Given the description of an element on the screen output the (x, y) to click on. 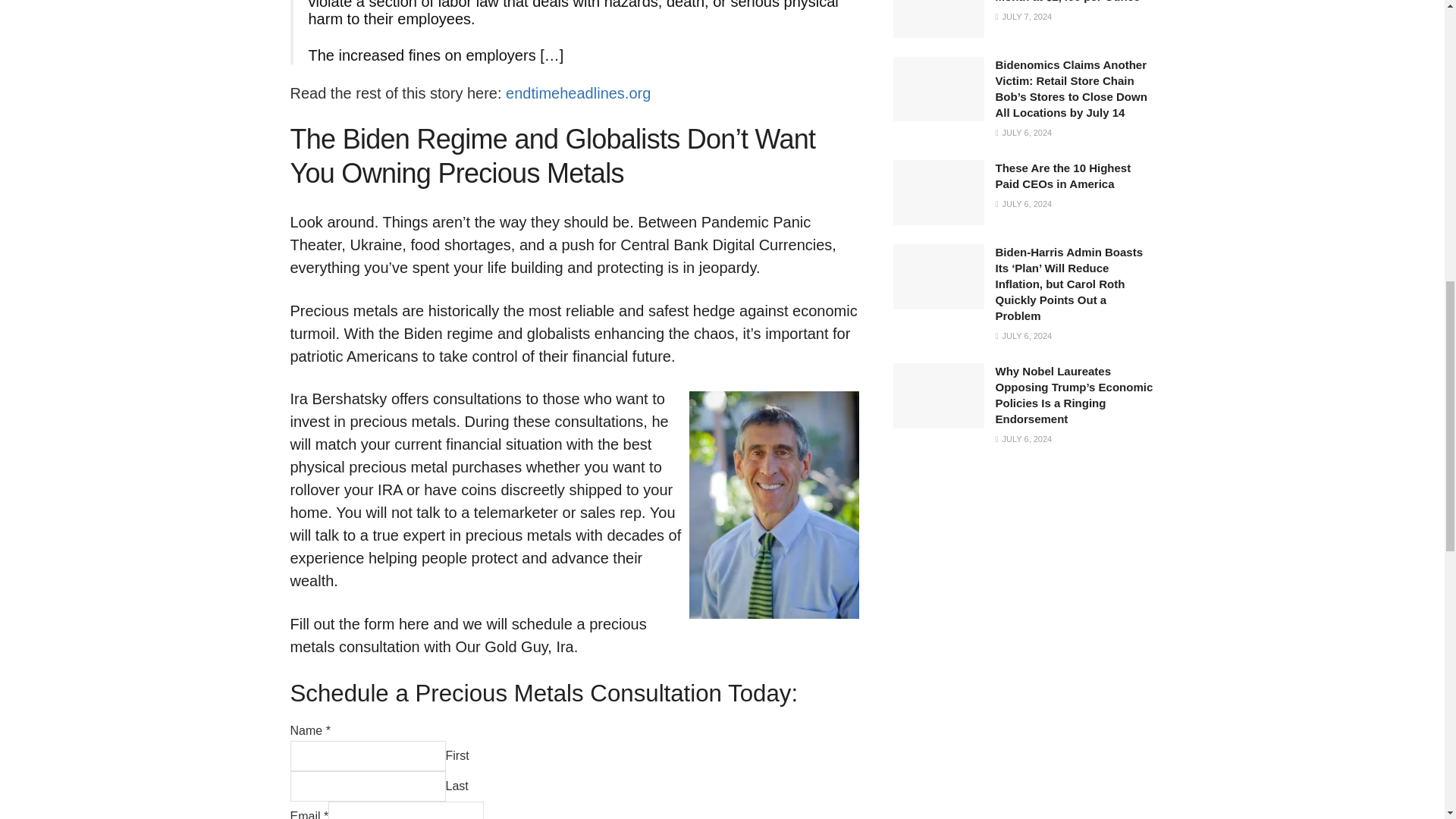
endtimeheadlines.org (577, 93)
